Given the description of an element on the screen output the (x, y) to click on. 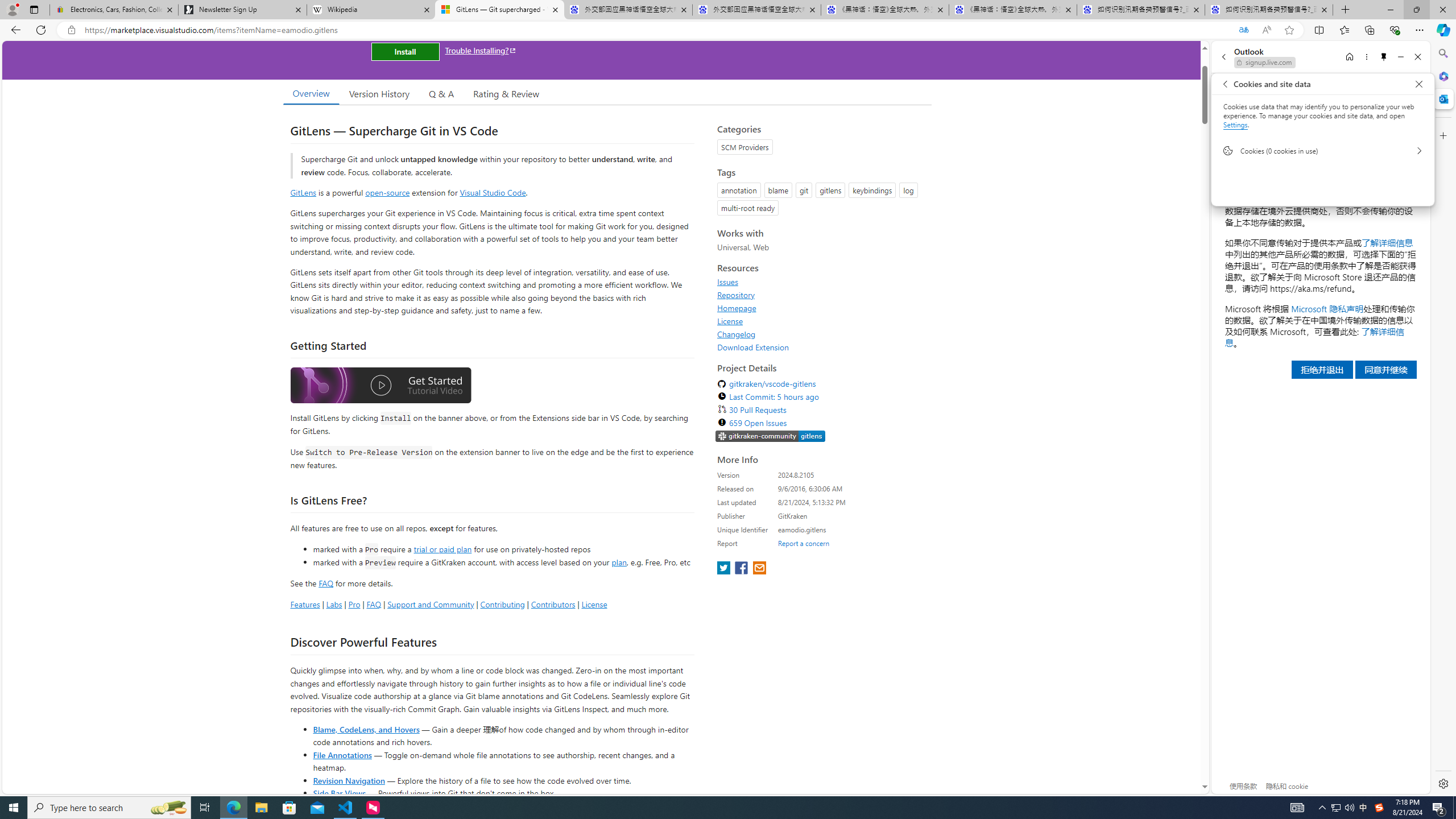
Running applications (707, 807)
Cookies and site data (1418, 83)
